Given the description of an element on the screen output the (x, y) to click on. 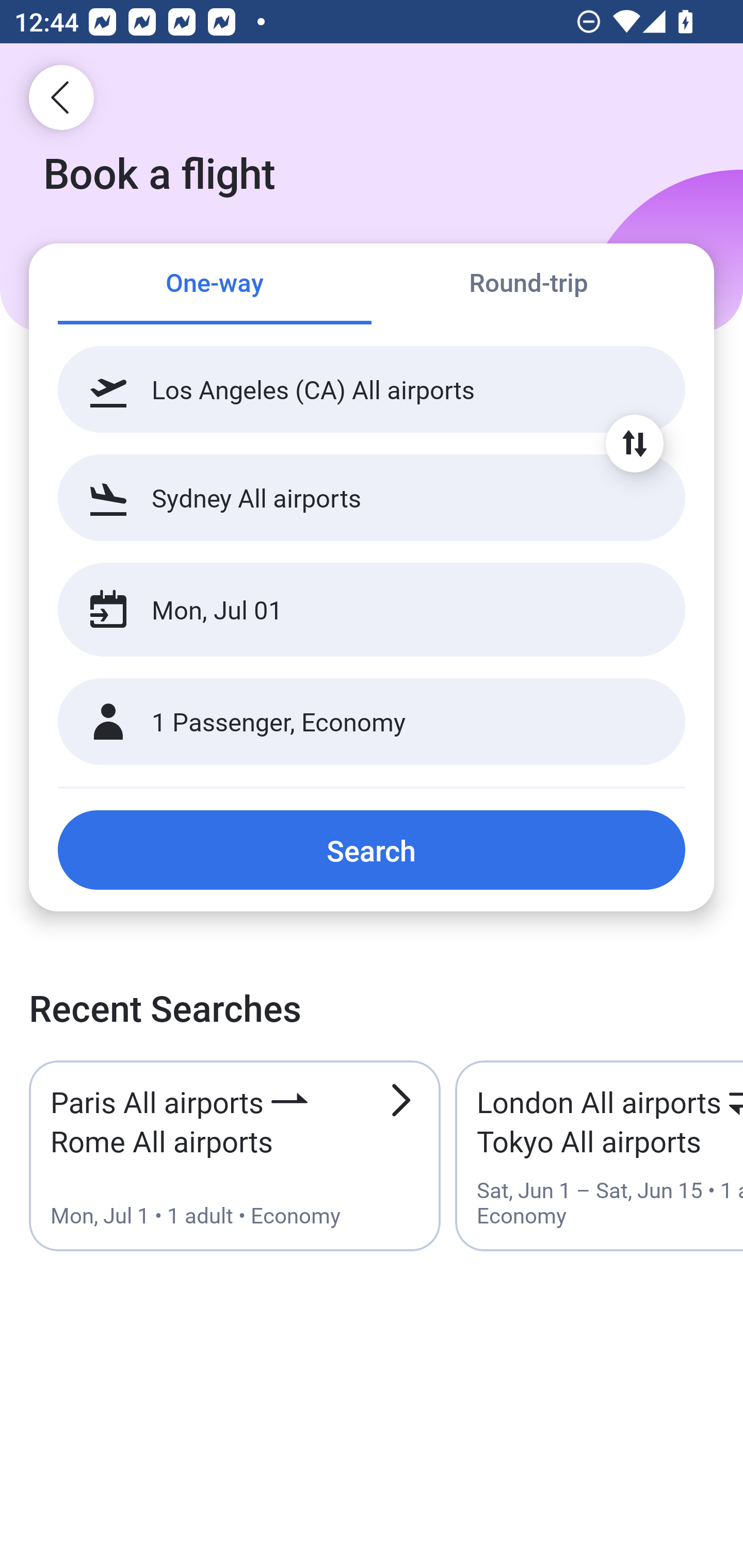
Round-trip (528, 284)
Los Angeles (CA) All airports (371, 389)
Sydney All airports (371, 497)
Mon, Jul 01 (349, 609)
1 Passenger, Economy (371, 721)
Search (371, 849)
